Given the description of an element on the screen output the (x, y) to click on. 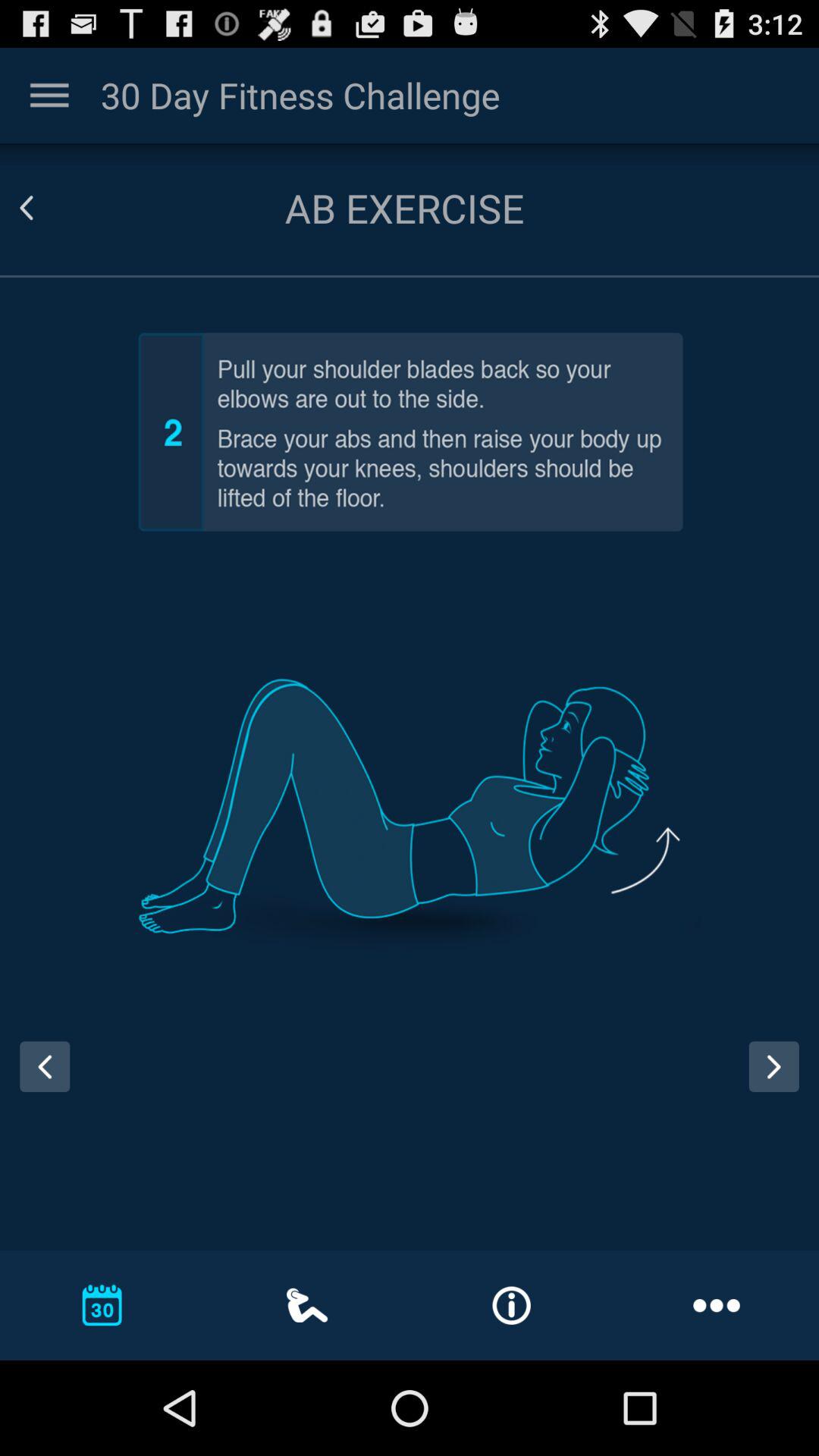
go to the next page (779, 1081)
